Given the description of an element on the screen output the (x, y) to click on. 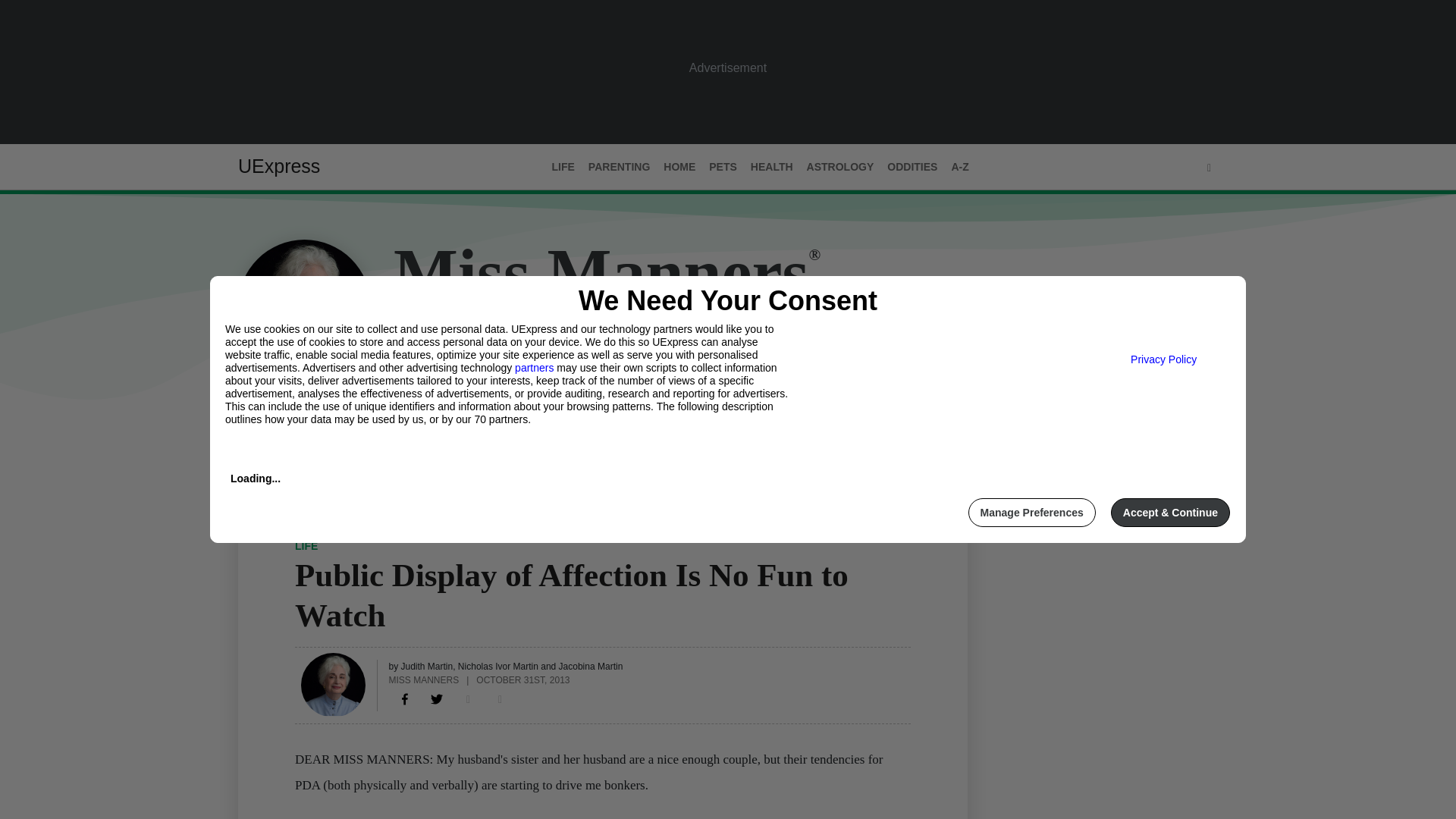
LIFE (562, 166)
UExpress (279, 166)
HEALTH (771, 166)
Latest (256, 431)
LIFE (306, 545)
PETS (722, 166)
PARENTING (618, 166)
A-Z (959, 166)
Archives (371, 431)
ASTROLOGY (839, 166)
